Given the description of an element on the screen output the (x, y) to click on. 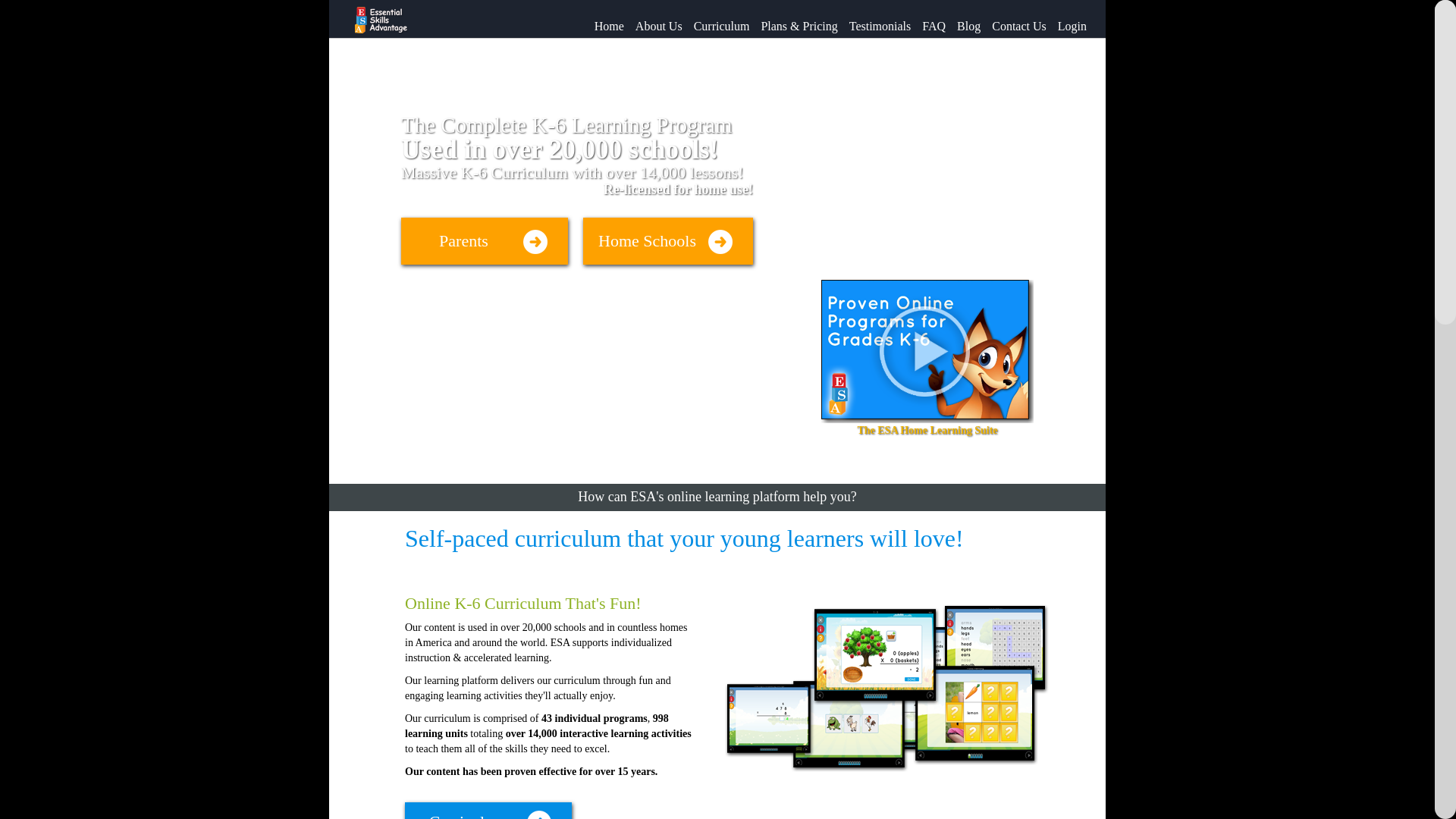
Home Schools (667, 240)
Curriculum (488, 810)
Testimonials (874, 20)
Login (1066, 20)
FAQ (927, 20)
Curriculum (715, 20)
Home (603, 20)
Parents (484, 240)
Contact Us (1012, 20)
About Us (653, 20)
Blog (961, 20)
